Given the description of an element on the screen output the (x, y) to click on. 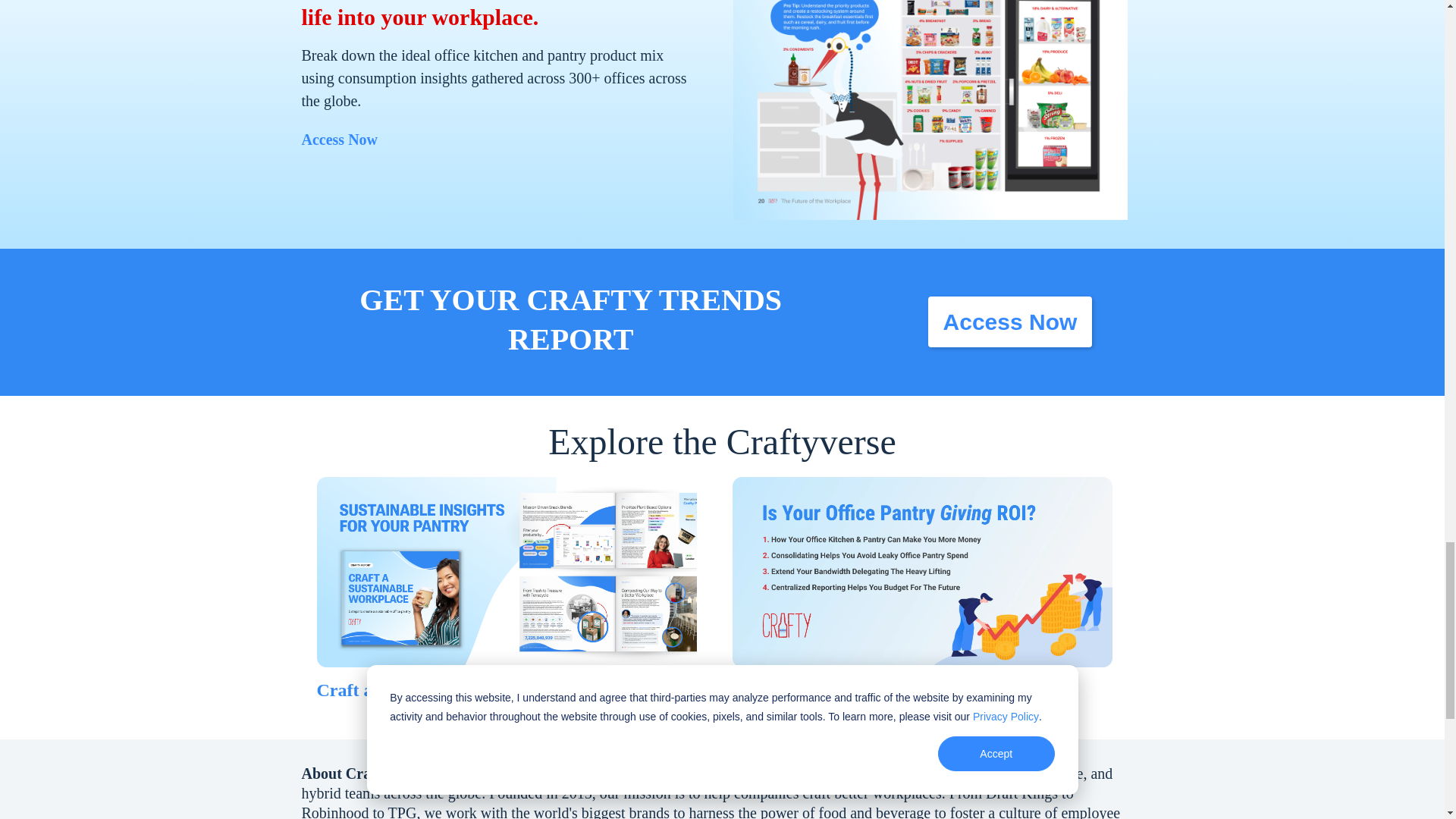
Crafty Sustainability Report Preview (507, 571)
